Given the description of an element on the screen output the (x, y) to click on. 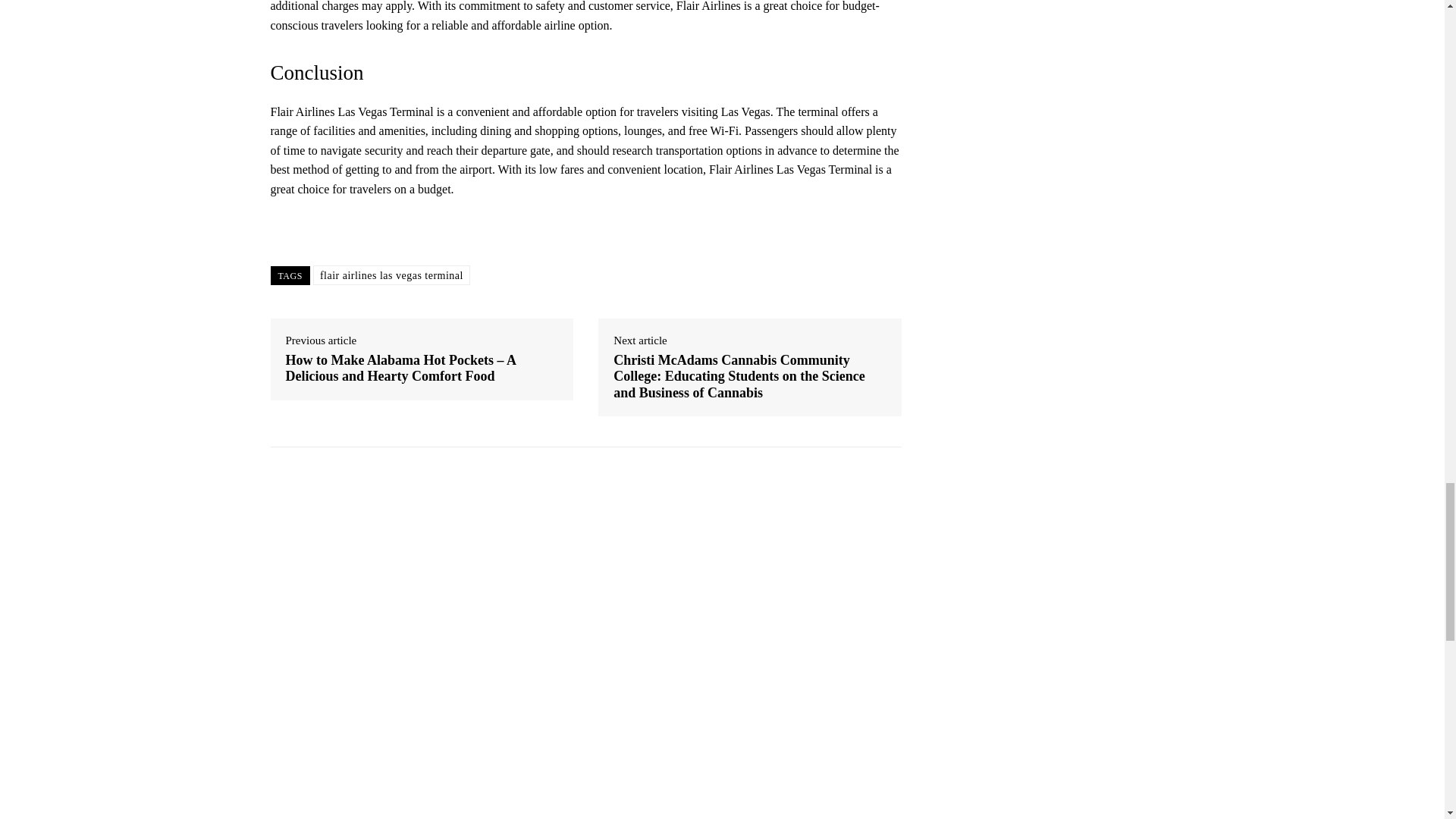
flair airlines las vegas terminal (391, 275)
